Given the description of an element on the screen output the (x, y) to click on. 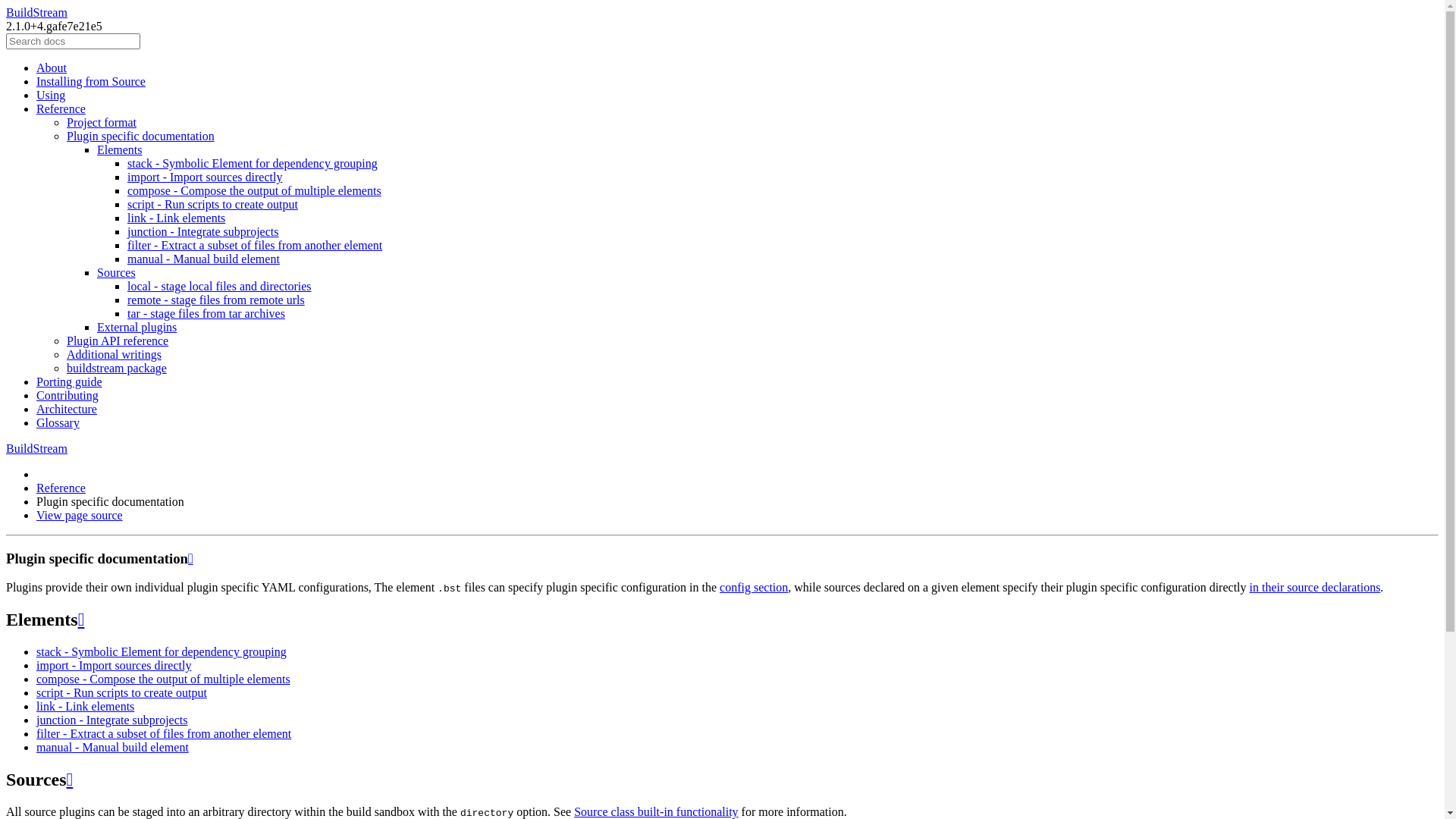
compose - Compose the output of multiple elements Element type: text (254, 190)
tar - stage files from tar archives Element type: text (206, 313)
Project format Element type: text (101, 122)
junction - Integrate subprojects Element type: text (112, 719)
junction - Integrate subprojects Element type: text (203, 231)
View page source Element type: text (79, 514)
External plugins Element type: text (136, 326)
BuildStream Element type: text (36, 448)
BuildStream Element type: text (36, 12)
manual - Manual build element Element type: text (203, 258)
stack - Symbolic Element for dependency grouping Element type: text (252, 162)
in their source declarations Element type: text (1314, 586)
remote - stage files from remote urls Element type: text (215, 299)
About Element type: text (51, 67)
Source class built-in functionality Element type: text (655, 811)
Additional writings Element type: text (113, 354)
stack - Symbolic Element for dependency grouping Element type: text (161, 651)
Installing from Source Element type: text (90, 81)
Using Element type: text (50, 94)
import - Import sources directly Element type: text (204, 176)
filter - Extract a subset of files from another element Element type: text (163, 733)
buildstream package Element type: text (116, 367)
compose - Compose the output of multiple elements Element type: text (163, 678)
Reference Element type: text (60, 108)
import - Import sources directly Element type: text (113, 664)
config section Element type: text (753, 586)
Reference Element type: text (60, 487)
Plugin specific documentation Element type: text (140, 135)
Sources Element type: text (116, 272)
filter - Extract a subset of files from another element Element type: text (254, 244)
Plugin API reference Element type: text (117, 340)
manual - Manual build element Element type: text (112, 746)
script - Run scripts to create output Element type: text (121, 692)
Porting guide Element type: text (69, 381)
Contributing Element type: text (67, 395)
script - Run scripts to create output Element type: text (212, 203)
Glossary Element type: text (57, 422)
Elements Element type: text (119, 149)
link - Link elements Element type: text (176, 217)
link - Link elements Element type: text (85, 705)
local - stage local files and directories Element type: text (219, 285)
Architecture Element type: text (66, 408)
